Given the description of an element on the screen output the (x, y) to click on. 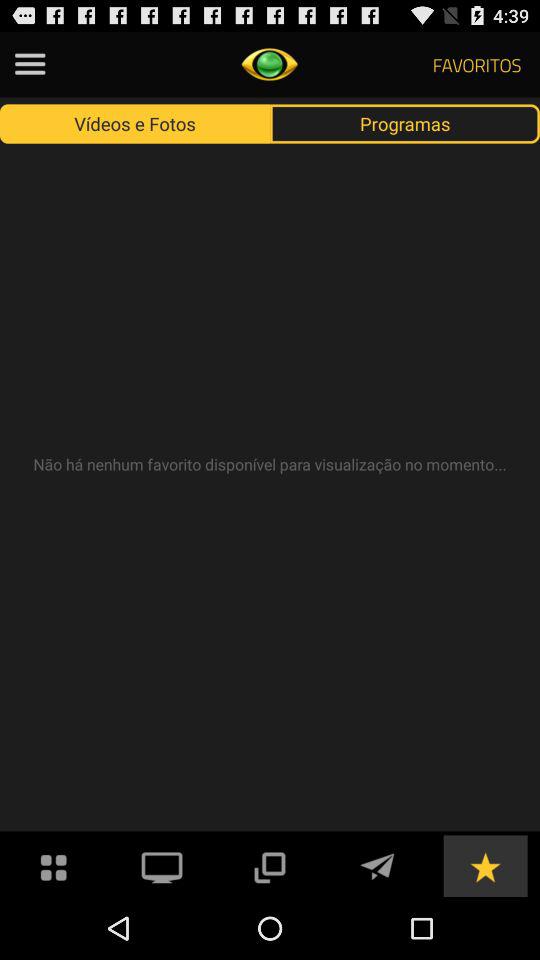
click to favorites option (485, 865)
